Given the description of an element on the screen output the (x, y) to click on. 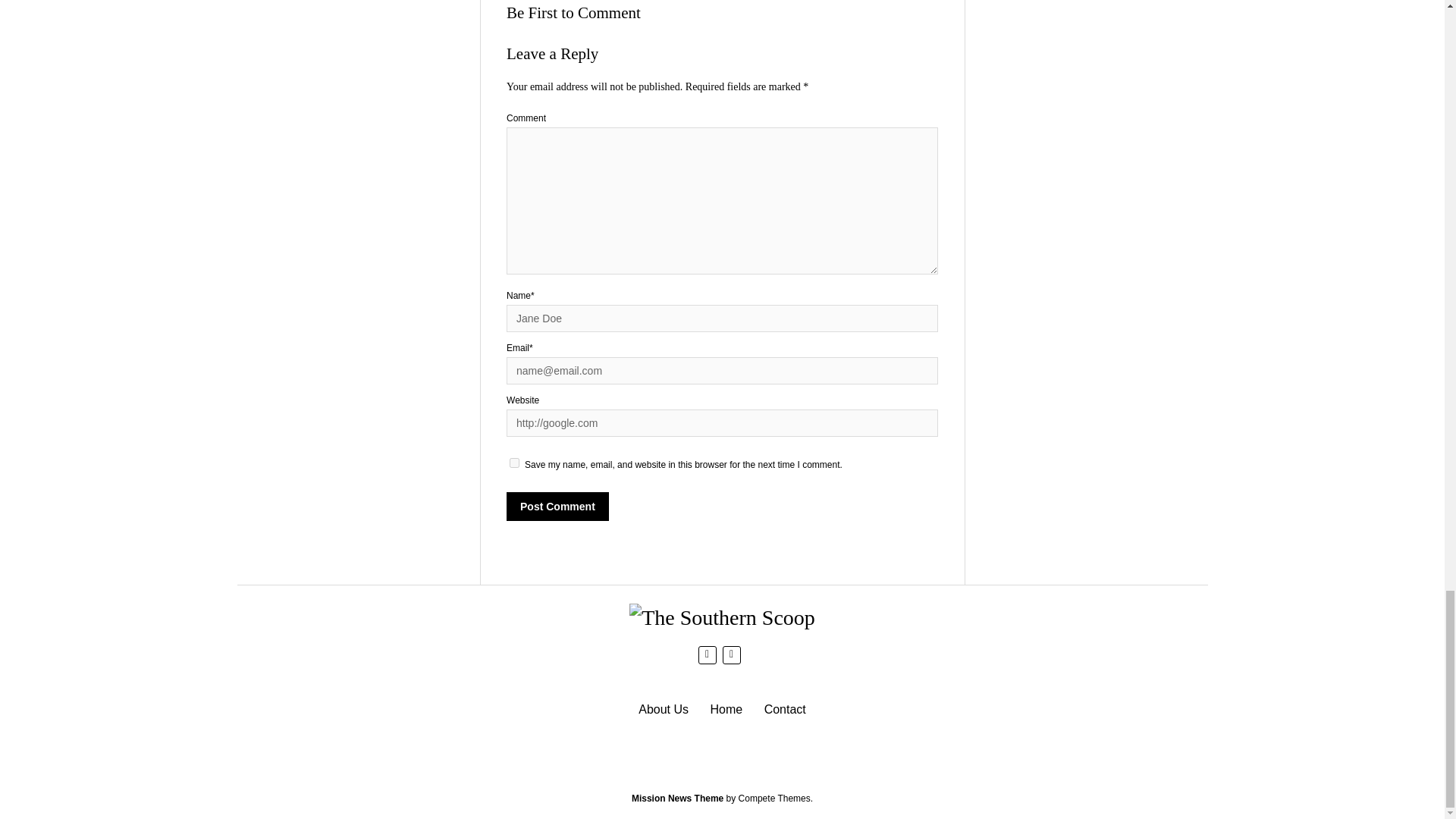
yes (514, 462)
email (731, 654)
Turning a dream into a reality (663, 708)
facebook (706, 654)
Post Comment (557, 506)
